Given the description of an element on the screen output the (x, y) to click on. 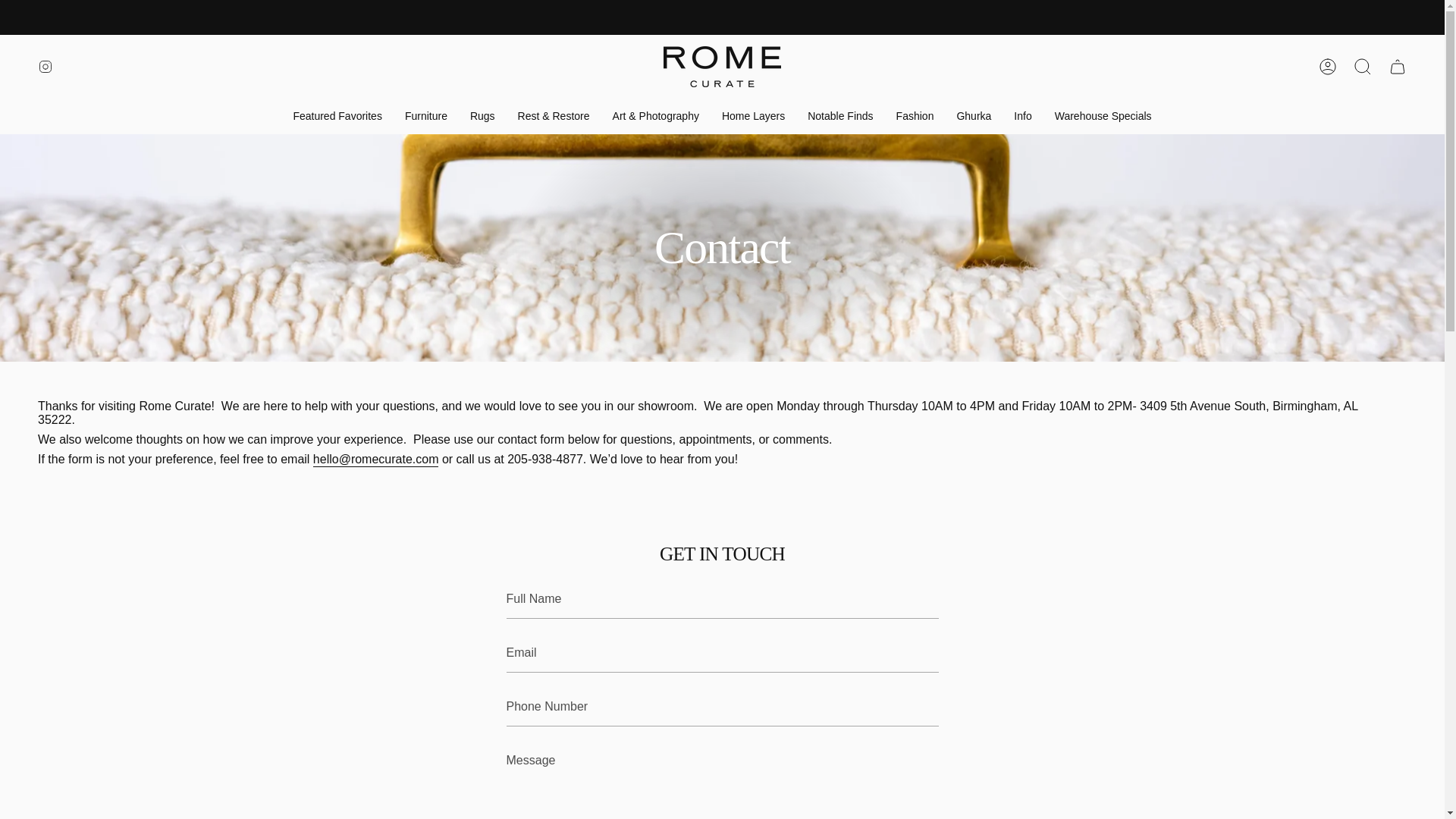
Rome Curate on Instagram (45, 66)
Instagram (45, 66)
Ghurka (973, 116)
Notable Finds (839, 116)
My Account (1327, 66)
Cart (1397, 66)
Furniture (425, 116)
Info (1022, 116)
Account (1327, 66)
Cart (1397, 66)
Home Layers (753, 116)
Search (1362, 66)
Featured Favorites (337, 116)
Rugs (482, 116)
Fashion (914, 116)
